Given the description of an element on the screen output the (x, y) to click on. 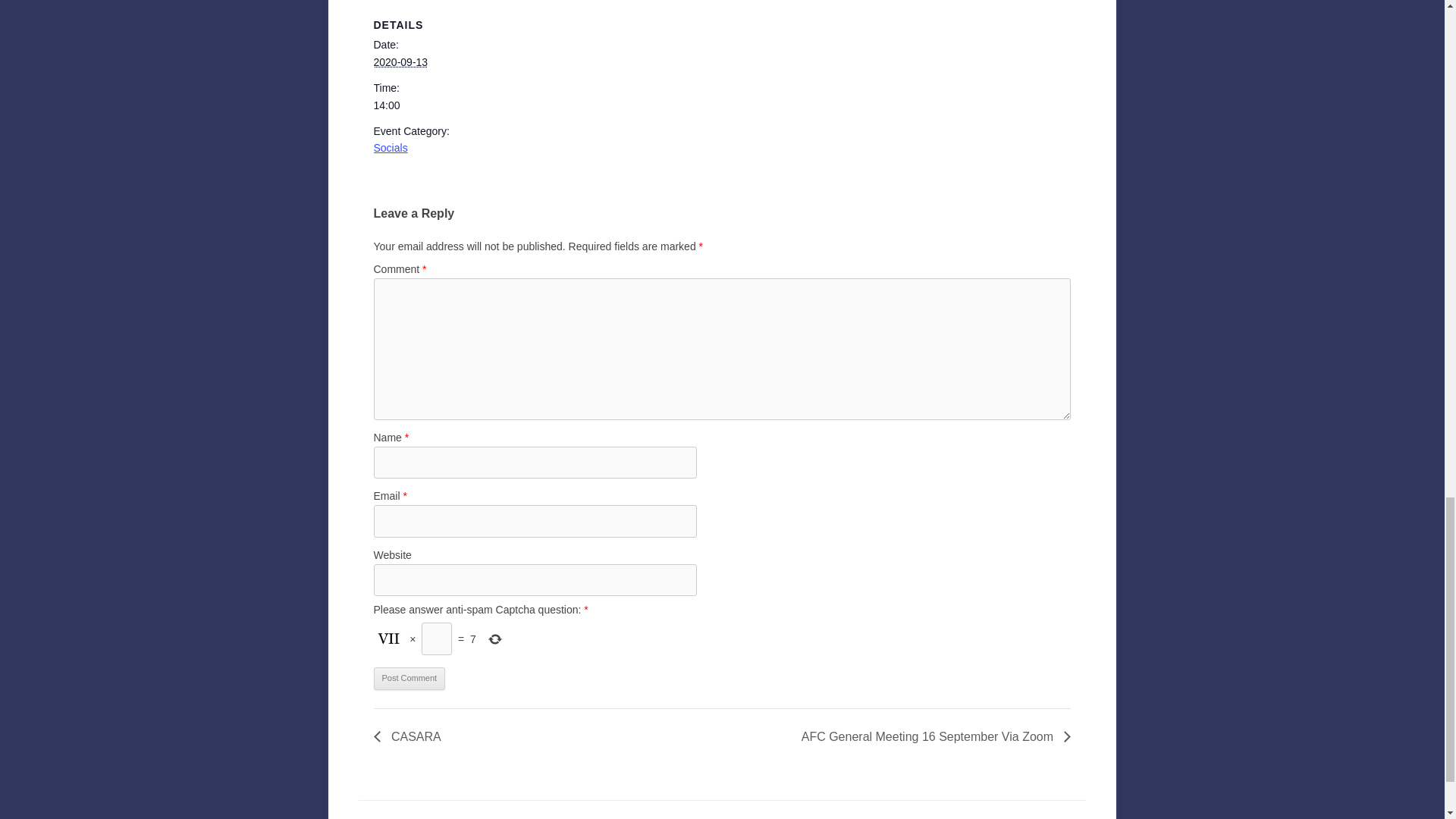
2020-09-13 (400, 61)
2020-09-13 (436, 104)
Post Comment (408, 678)
